Given the description of an element on the screen output the (x, y) to click on. 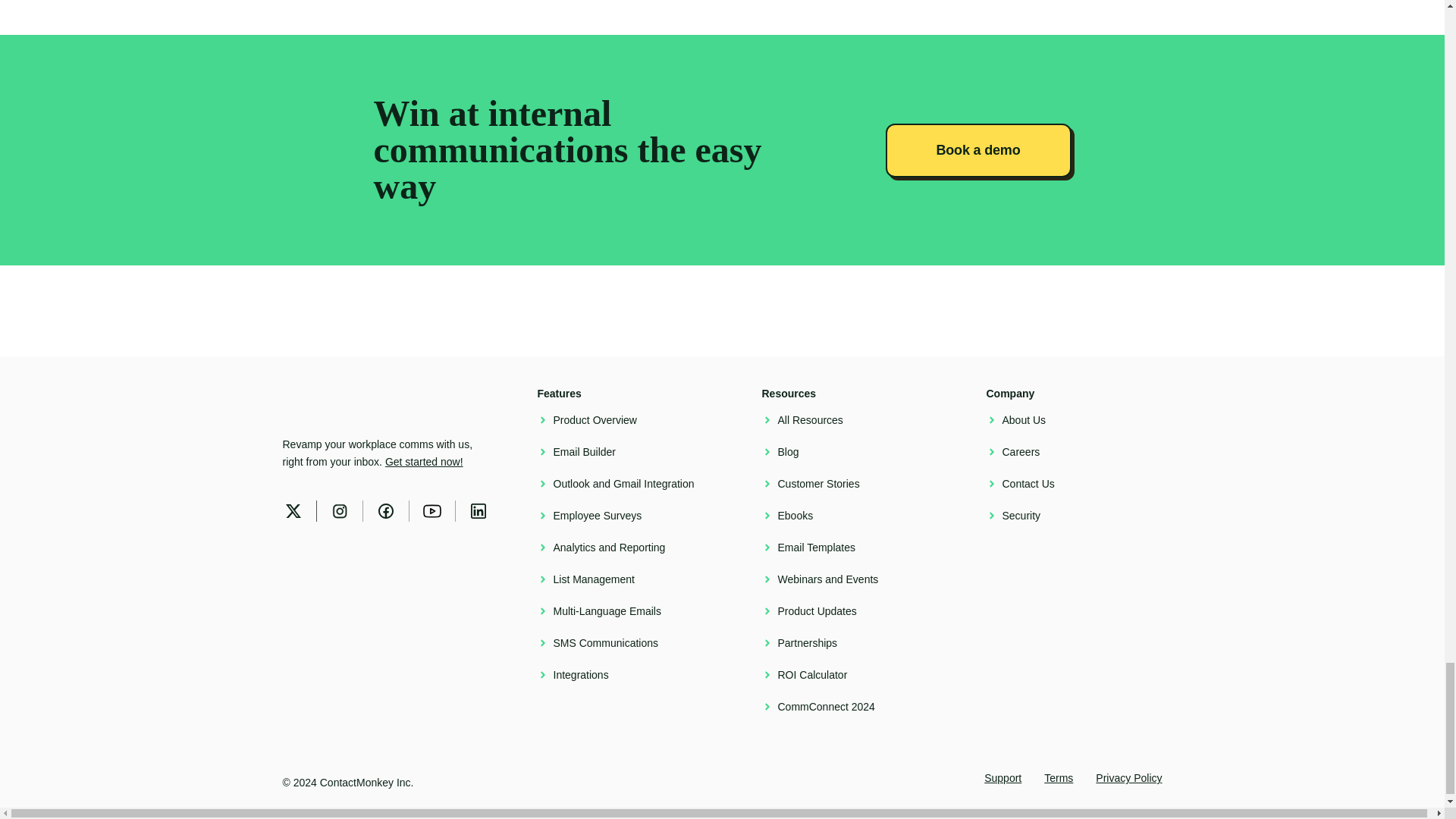
CM-2024-Brandmark-RGB-WHT-1-1 (302, 403)
